Given the description of an element on the screen output the (x, y) to click on. 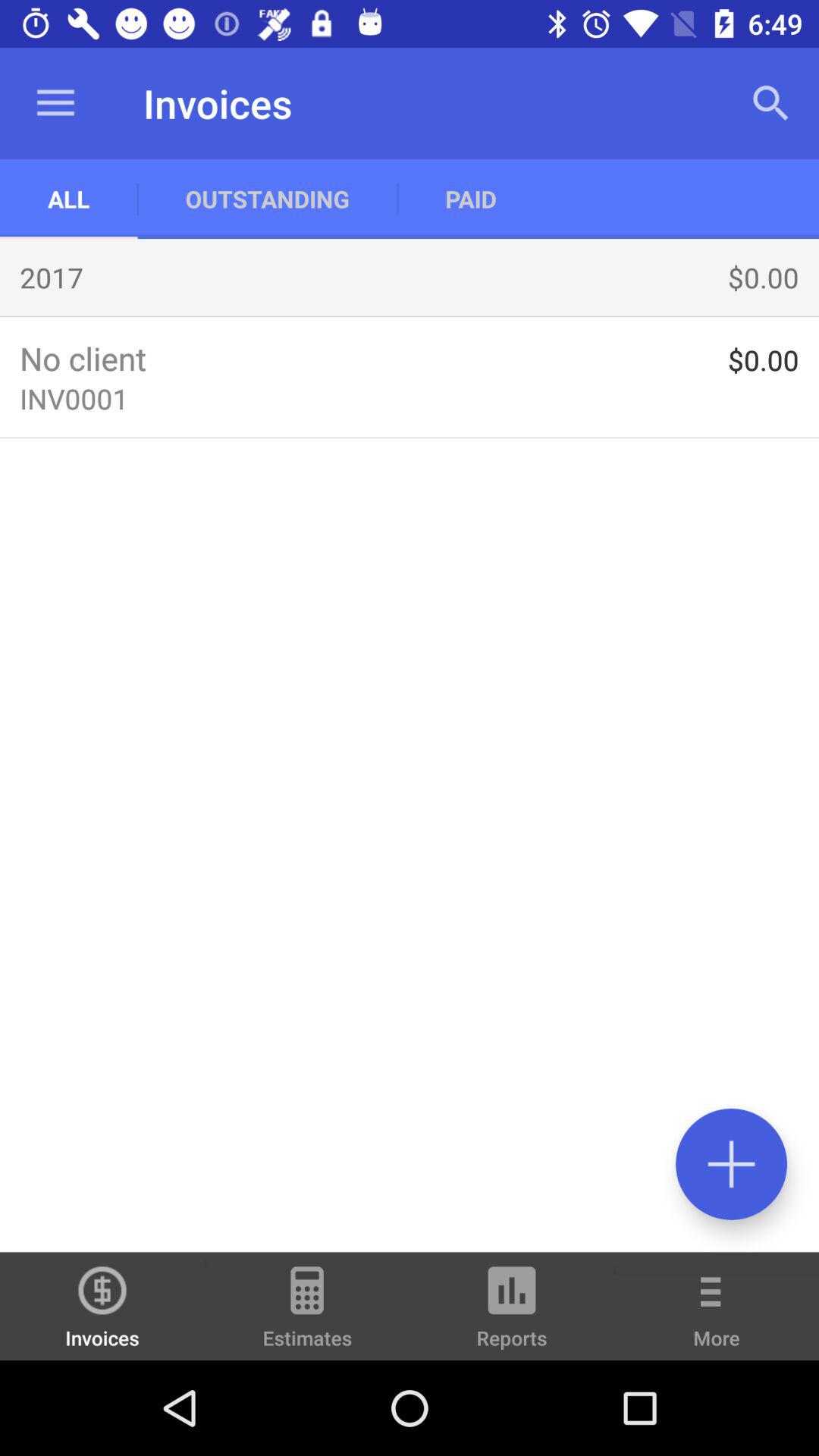
turn on more item (716, 1317)
